Given the description of an element on the screen output the (x, y) to click on. 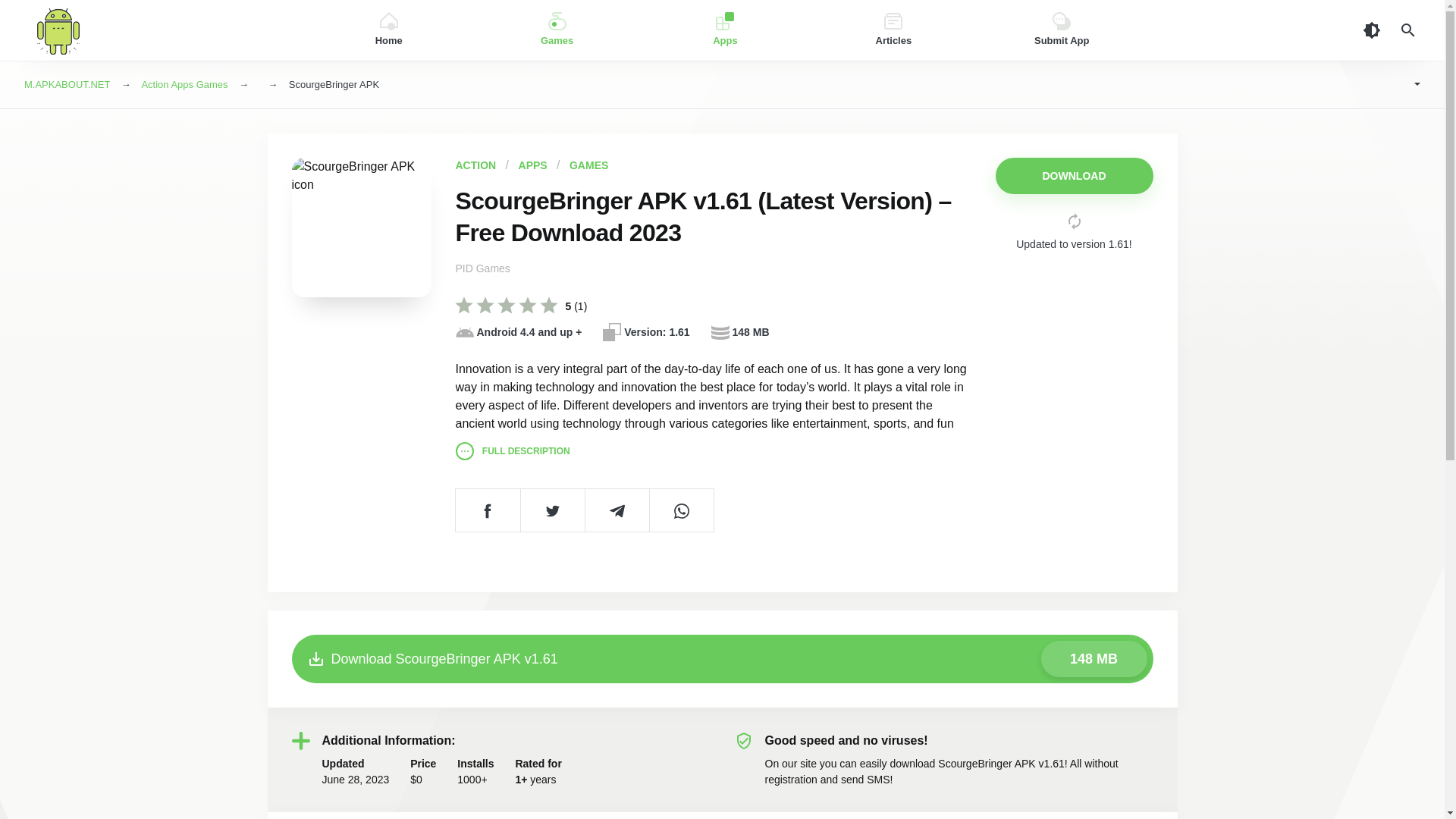
Share on Whatsapp (681, 509)
Home (388, 30)
Share on Telegram (615, 509)
APK ABOUT (154, 30)
Games (557, 30)
Tweet this (552, 509)
APK ABOUT (154, 30)
Share on Facebook (486, 509)
Apps (725, 30)
